Given the description of an element on the screen output the (x, y) to click on. 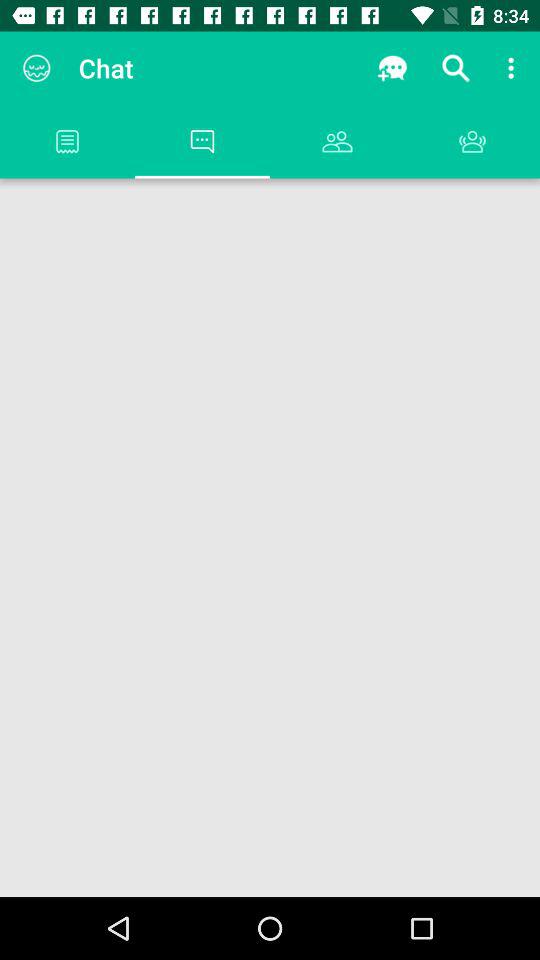
turn off the item to the right of the chat app (392, 67)
